Given the description of an element on the screen output the (x, y) to click on. 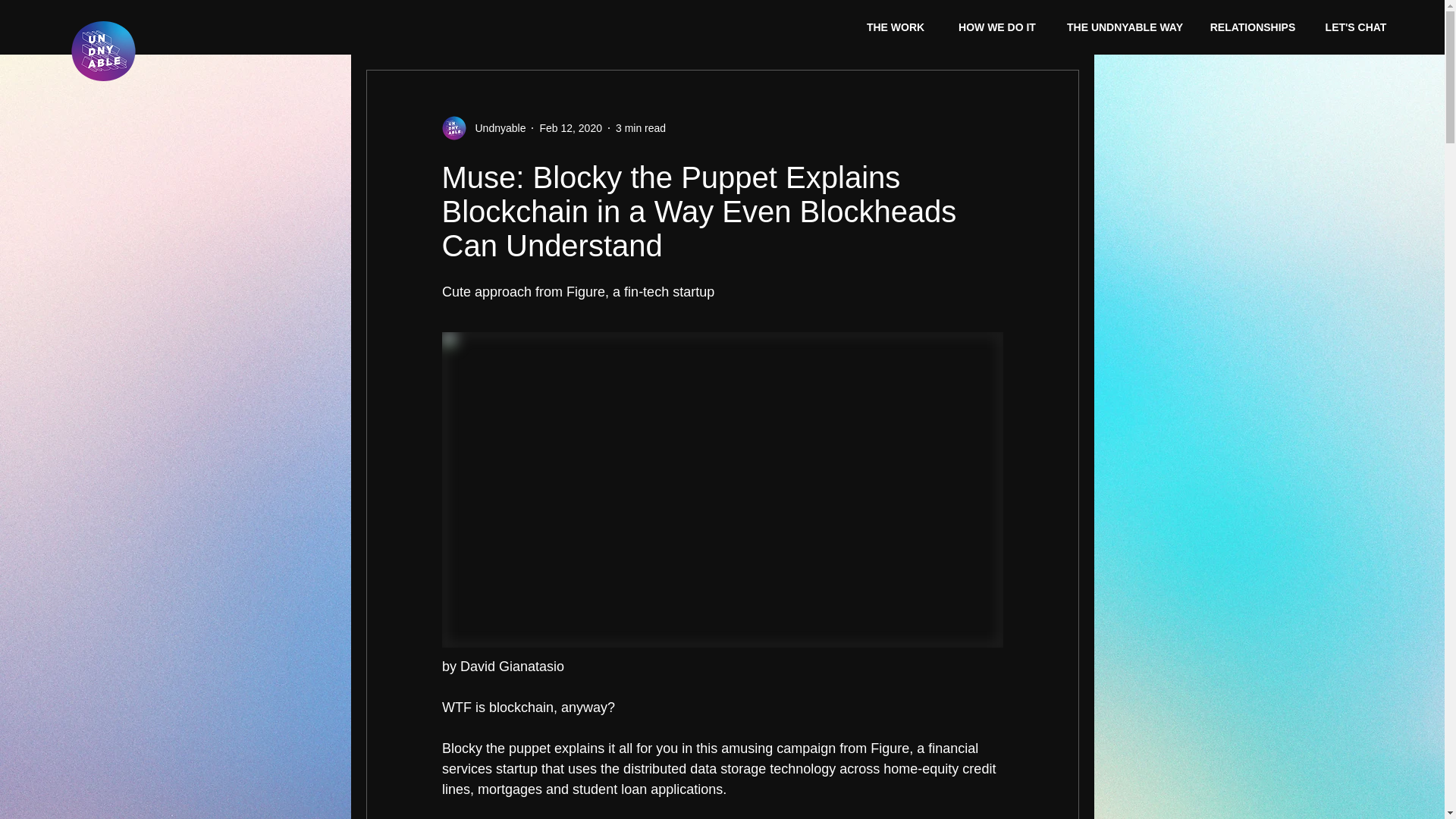
RELATIONSHIPS (1252, 26)
THE UNDNYABLE WAY (1124, 26)
THE WORK (895, 26)
LET'S CHAT (1355, 26)
HOW WE DO IT (996, 26)
3 min read (640, 127)
Feb 12, 2020 (570, 127)
Undnyable (495, 127)
